Given the description of an element on the screen output the (x, y) to click on. 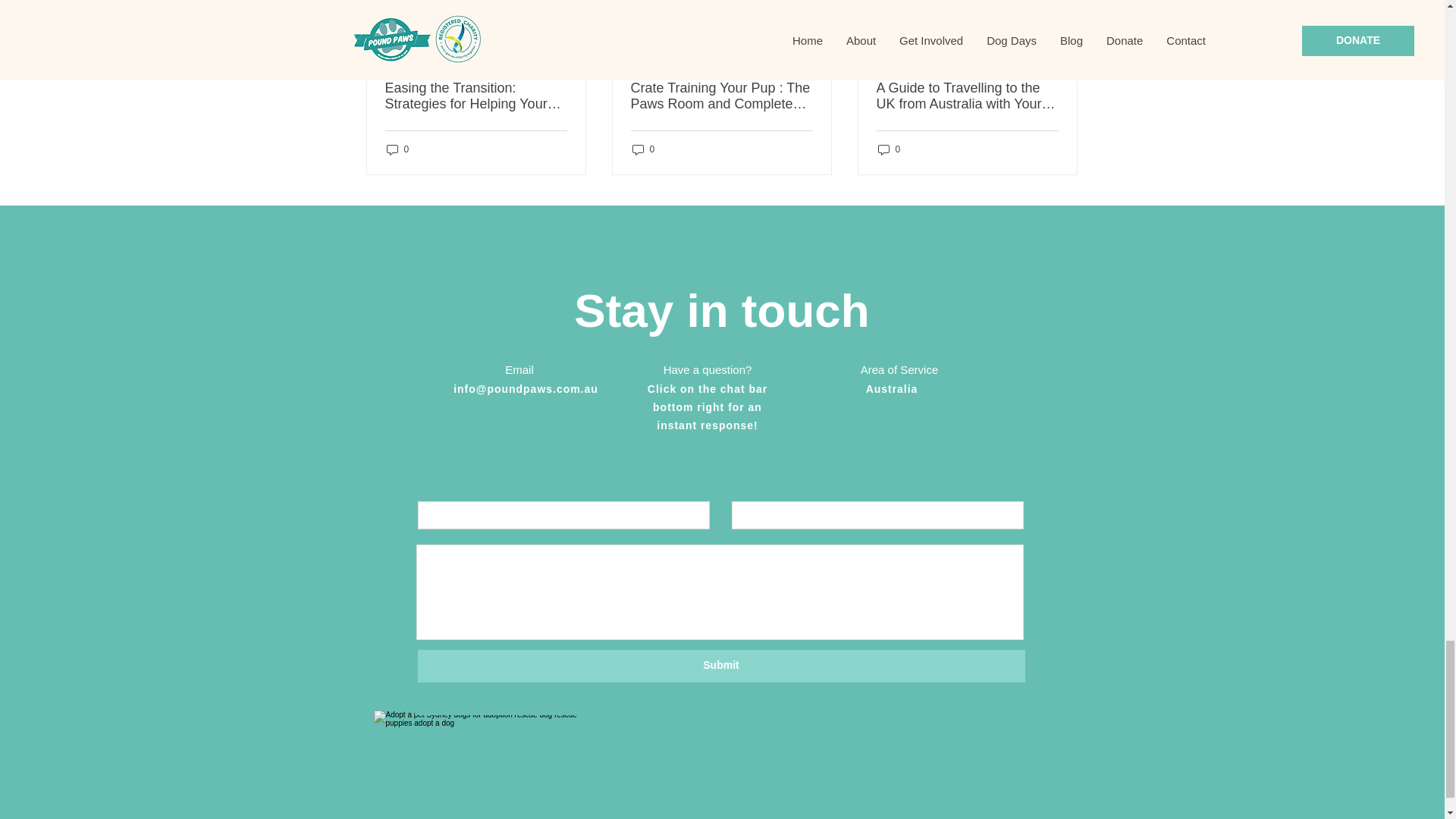
Submit (720, 666)
0 (643, 149)
0 (889, 149)
0 (397, 149)
A Guide to Travelling to the UK from Australia with Your Dog (967, 96)
